Given the description of an element on the screen output the (x, y) to click on. 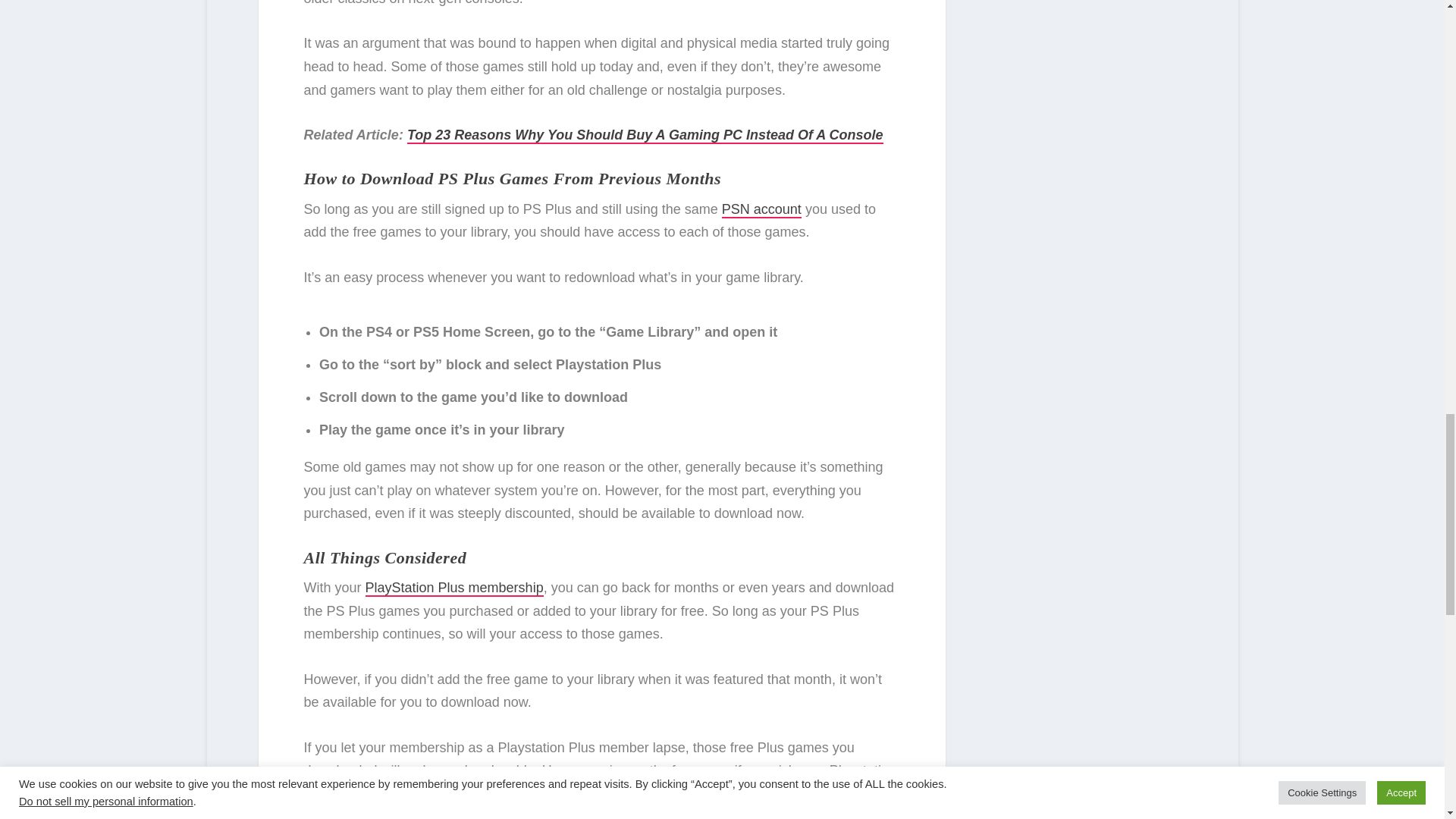
PlayStation Plus membership (454, 588)
PSN account (762, 209)
